Given the description of an element on the screen output the (x, y) to click on. 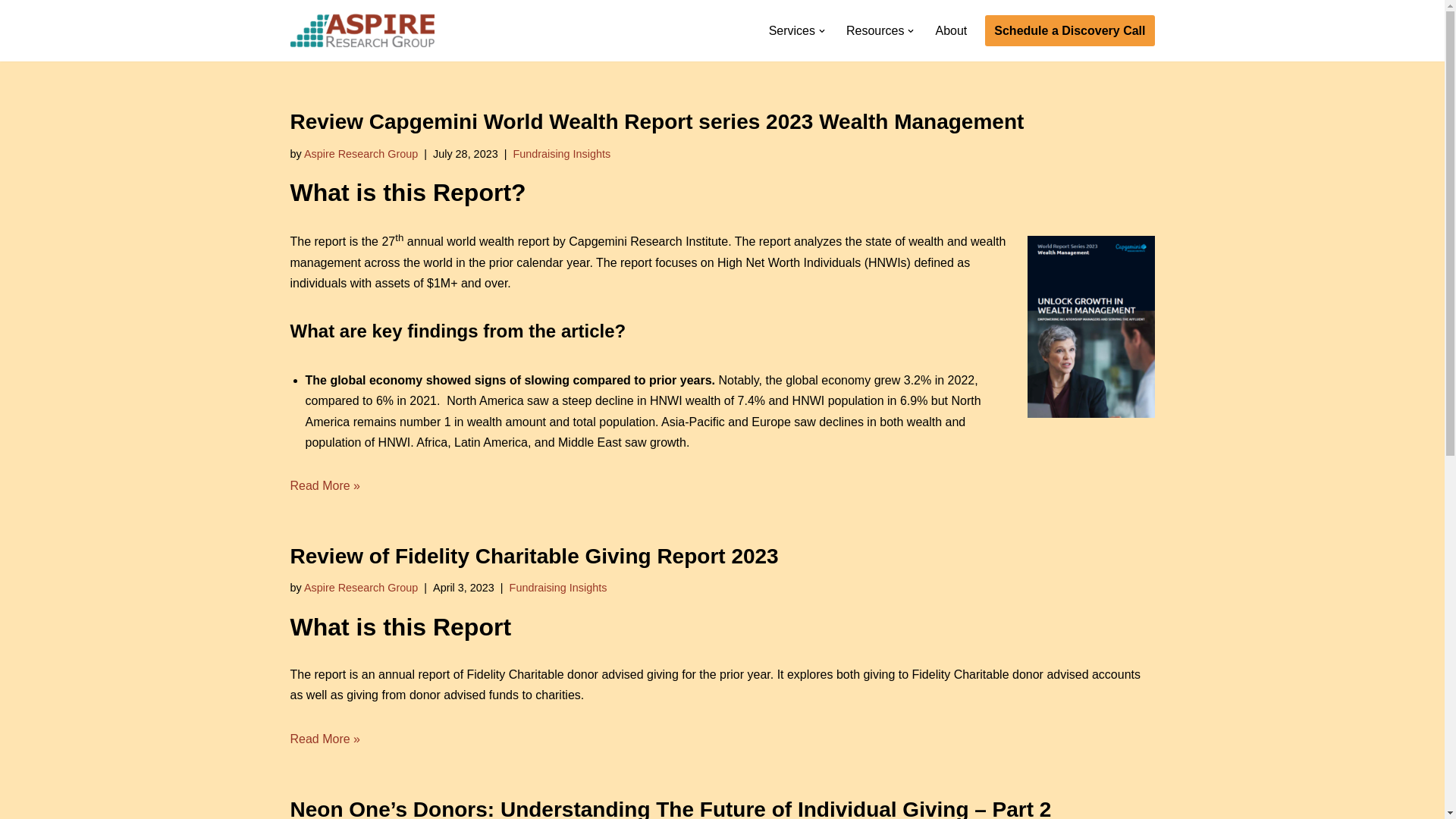
Skip to content (11, 31)
Services (791, 30)
Posts by Aspire Research Group (360, 153)
Aspire Research Group (360, 153)
Schedule a Discovery Call (1069, 30)
Posts by Aspire Research Group (360, 587)
Aspire Research Group (360, 587)
Review of Fidelity Charitable Giving Report 2023 (533, 556)
Resources (874, 30)
